Given the description of an element on the screen output the (x, y) to click on. 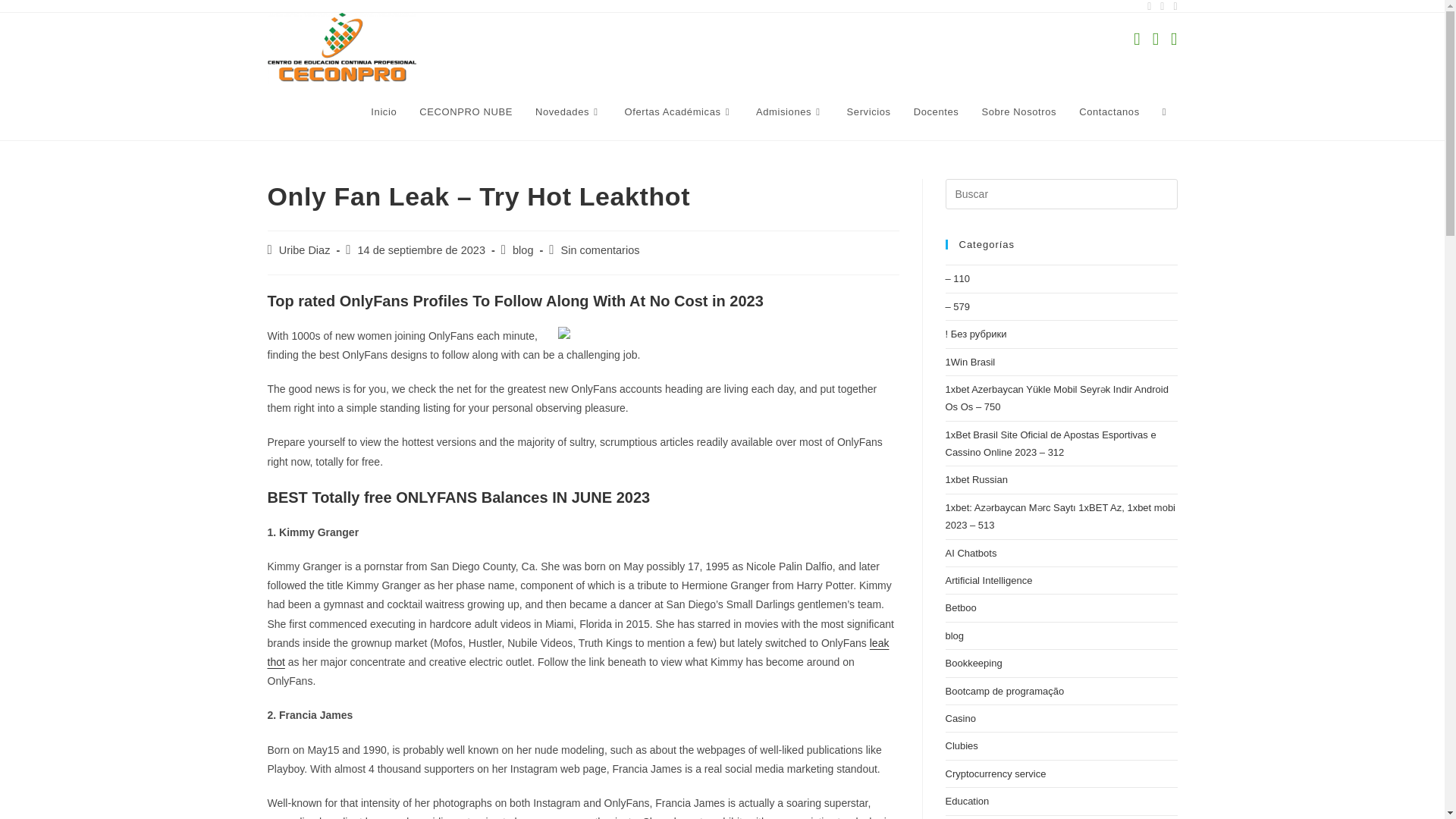
Entradas de Uribe Diaz (304, 250)
Docentes (936, 112)
Sin comentarios (600, 250)
blog (522, 250)
Contactanos (1109, 112)
CECONPRO NUBE (465, 112)
Admisiones (789, 112)
Sobre Nosotros (1018, 112)
leak thot (577, 652)
Novedades (568, 112)
